Given the description of an element on the screen output the (x, y) to click on. 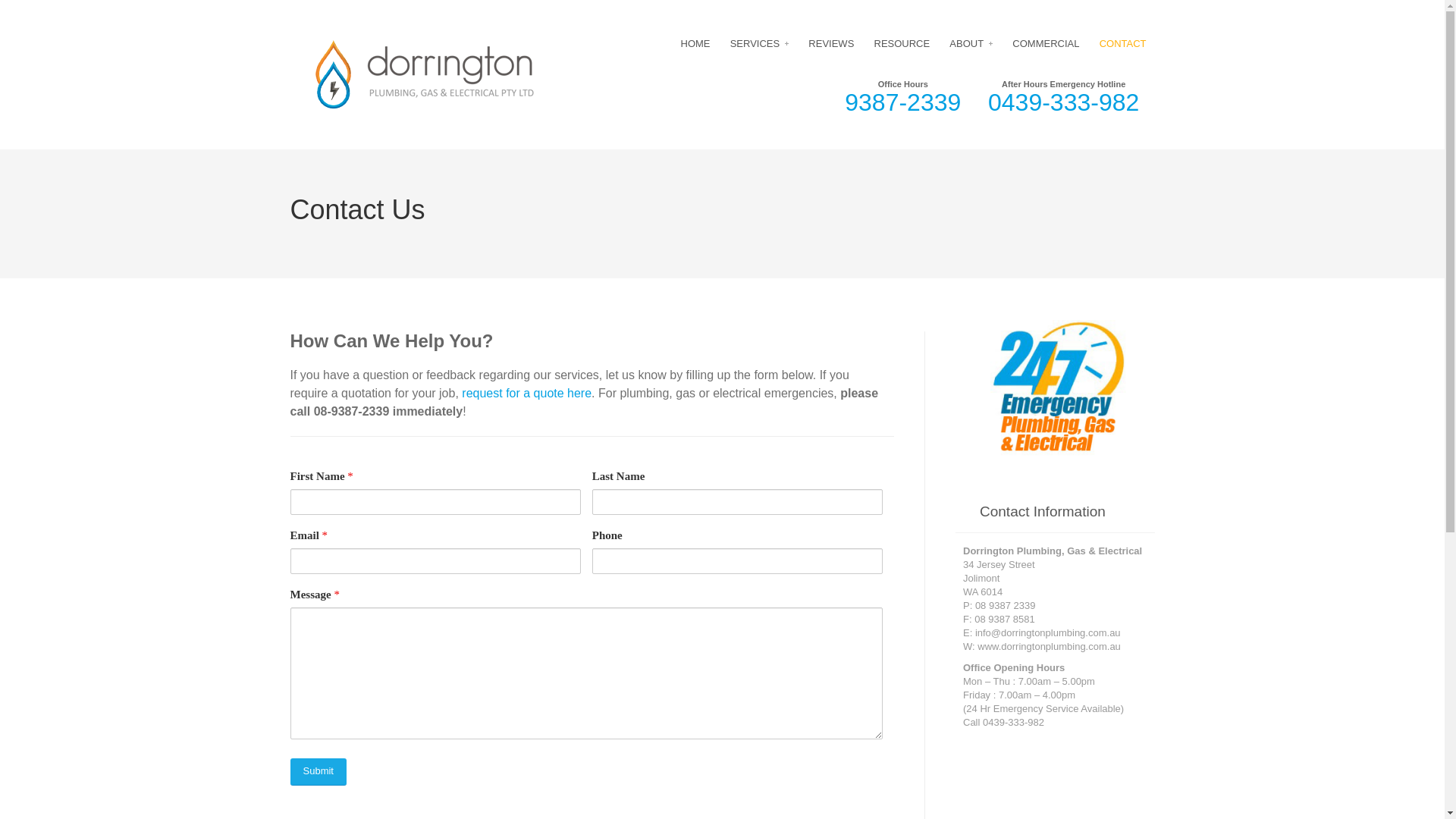
RESOURCE Element type: text (902, 43)
0439-333-982 Element type: text (1063, 106)
COMMERCIAL Element type: text (1045, 43)
HOME Element type: text (694, 43)
ABOUT Element type: text (971, 43)
Submit Element type: text (317, 771)
SERVICES Element type: text (759, 43)
REVIEWS Element type: text (831, 43)
CONTACT Element type: text (1122, 43)
request for a quote here Element type: text (526, 392)
9387-2339 Element type: text (902, 106)
